Given the description of an element on the screen output the (x, y) to click on. 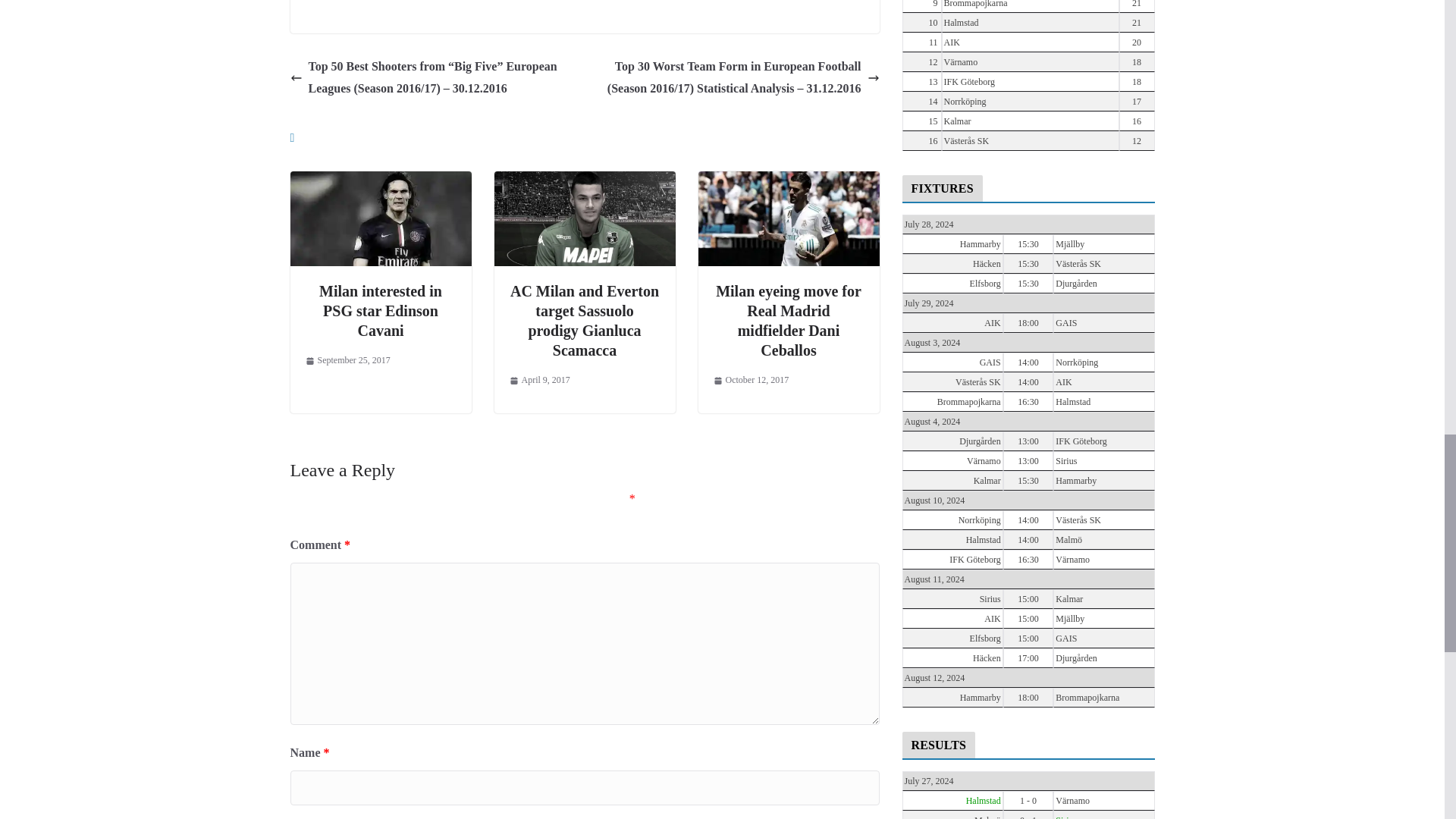
Milan interested in PSG star Edinson Cavani (379, 181)
7:07 am (539, 380)
6:49 am (347, 360)
Milan interested in PSG star Edinson Cavani (380, 310)
